Given the description of an element on the screen output the (x, y) to click on. 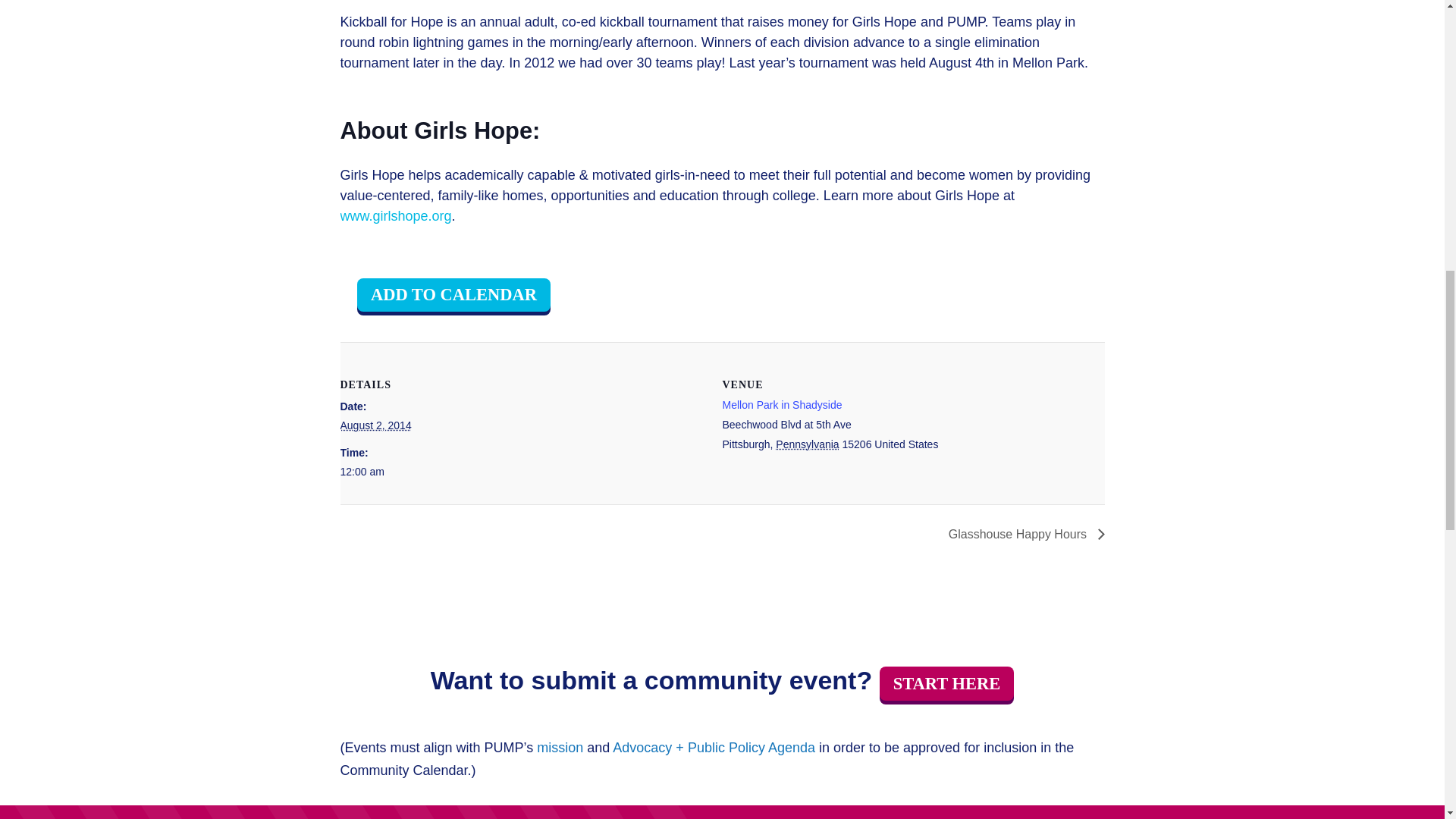
2014-08-02 (521, 471)
2014-08-02 (374, 425)
